Given the description of an element on the screen output the (x, y) to click on. 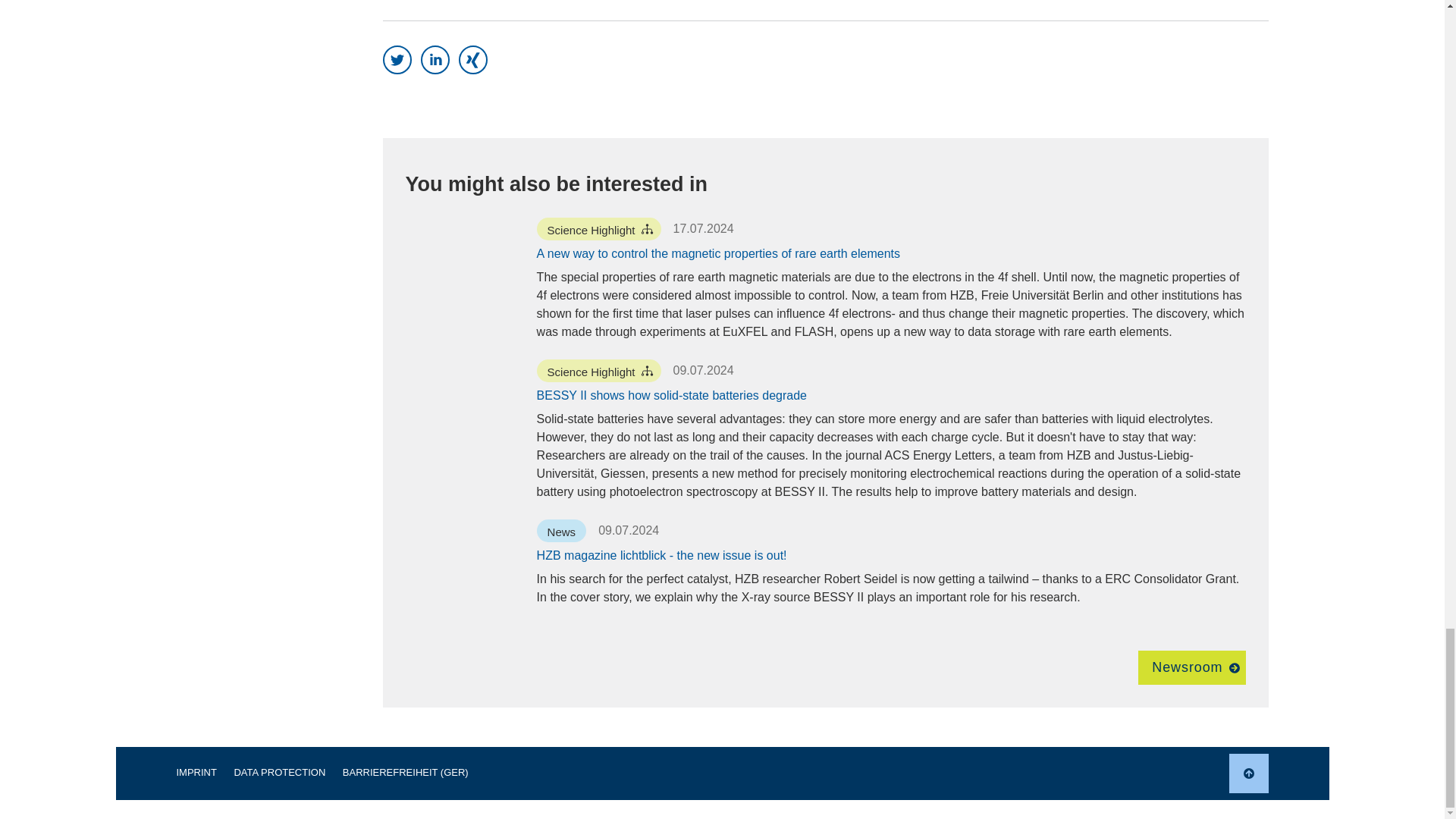
DATA PROTECTION (279, 772)
Newsroom (1191, 667)
HZB magazine lichtblick - the new issue is out! (662, 555)
IMPRINT (196, 772)
BESSY II shows how solid-state batteries degrade (671, 395)
